Given the description of an element on the screen output the (x, y) to click on. 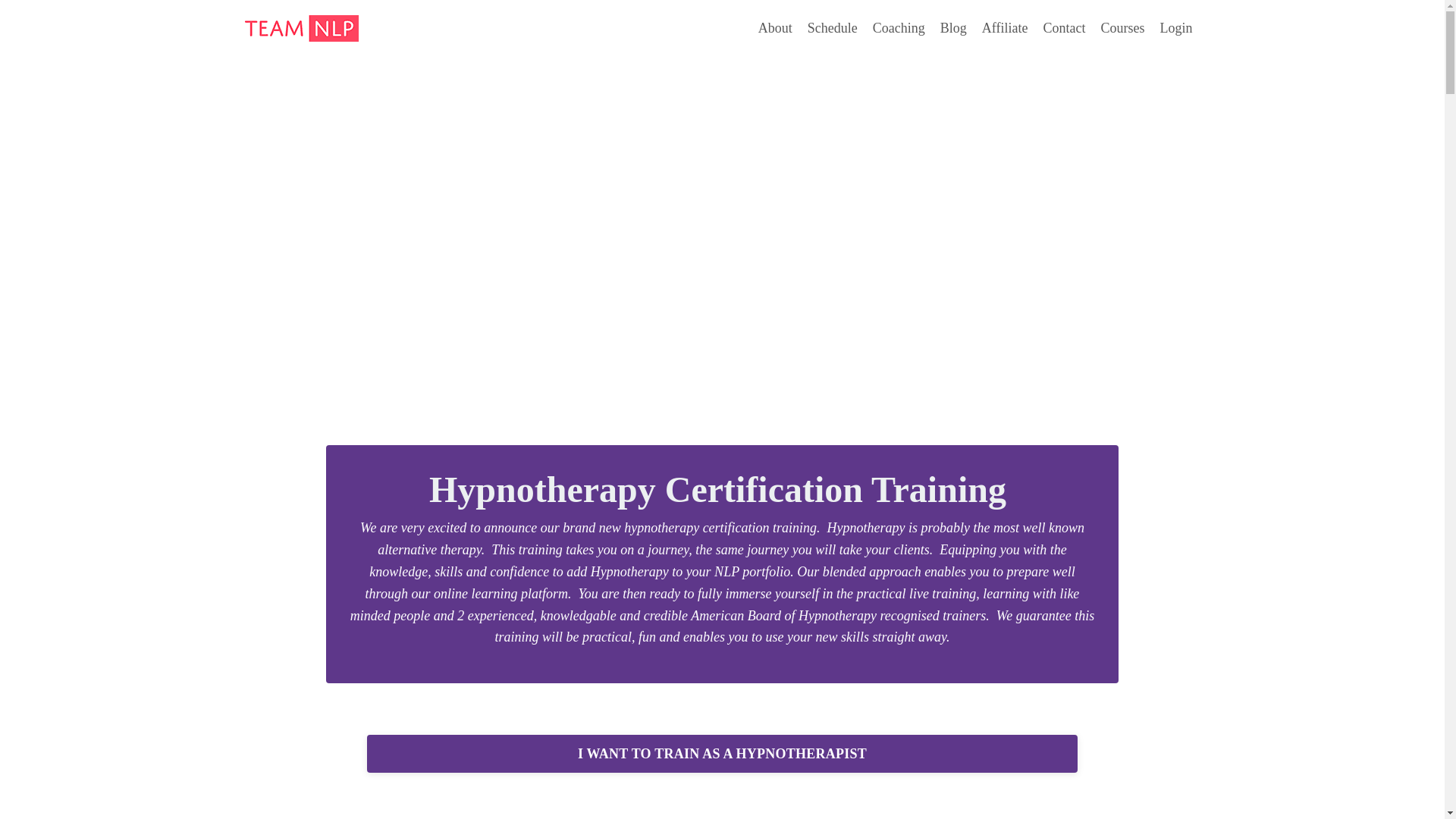
I WANT TO TRAIN AS A HYPNOTHERAPIST (722, 753)
Affiliate (1004, 28)
Schedule (832, 28)
Coaching (898, 28)
Login (1176, 28)
Contact (1064, 28)
Blog (953, 28)
Courses (1122, 28)
About (775, 28)
